Given the description of an element on the screen output the (x, y) to click on. 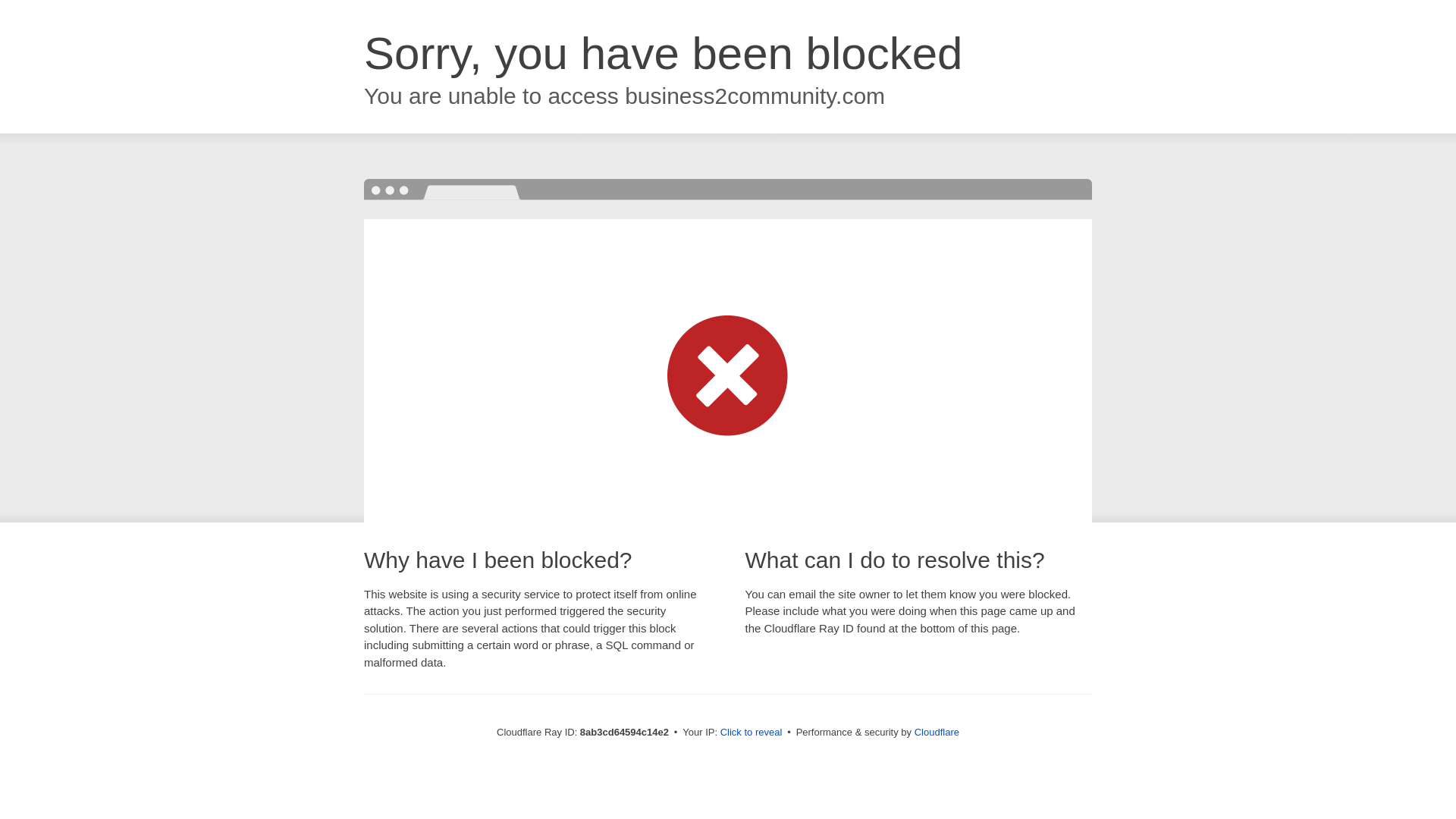
Click to reveal (751, 732)
Cloudflare (936, 731)
